Given the description of an element on the screen output the (x, y) to click on. 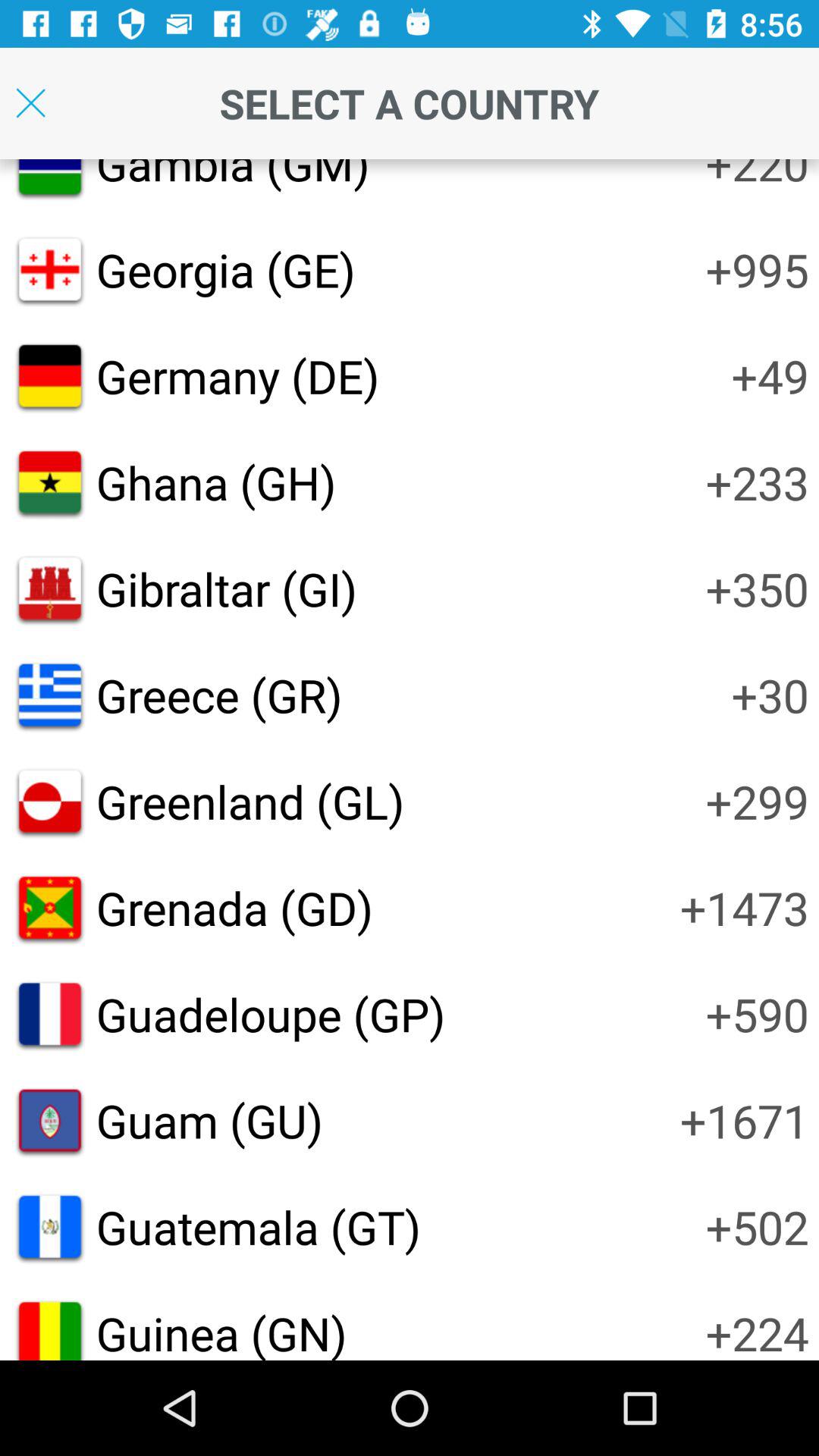
turn on the greece (gr) item (219, 694)
